Given the description of an element on the screen output the (x, y) to click on. 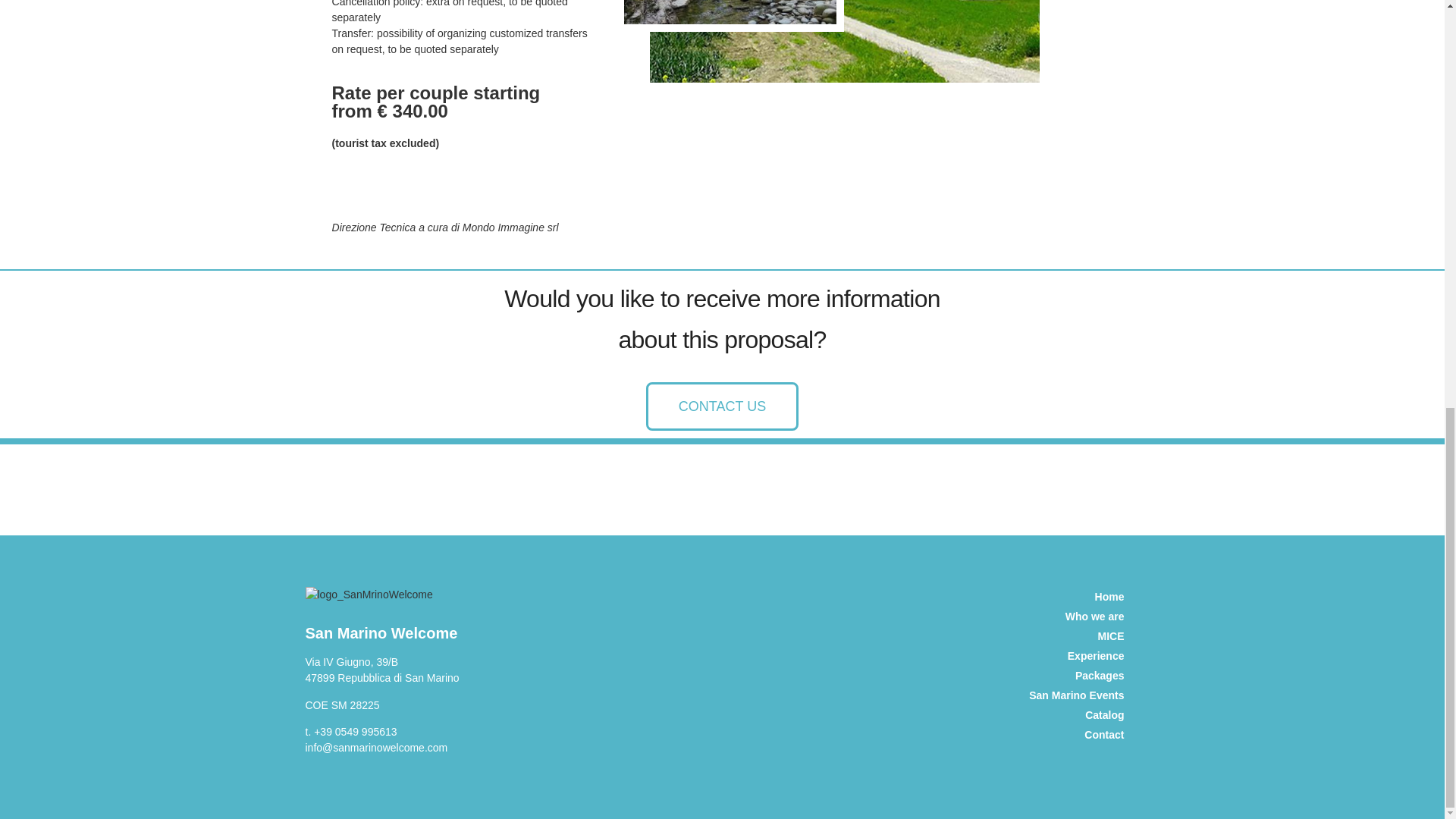
San Marino Events (1070, 695)
MICE (1070, 636)
Packages (1070, 675)
CONTACT US (721, 406)
Catalog (1070, 714)
Home (1070, 596)
Who we are (1070, 616)
Contact (1070, 734)
Experience (1070, 655)
